Given the description of an element on the screen output the (x, y) to click on. 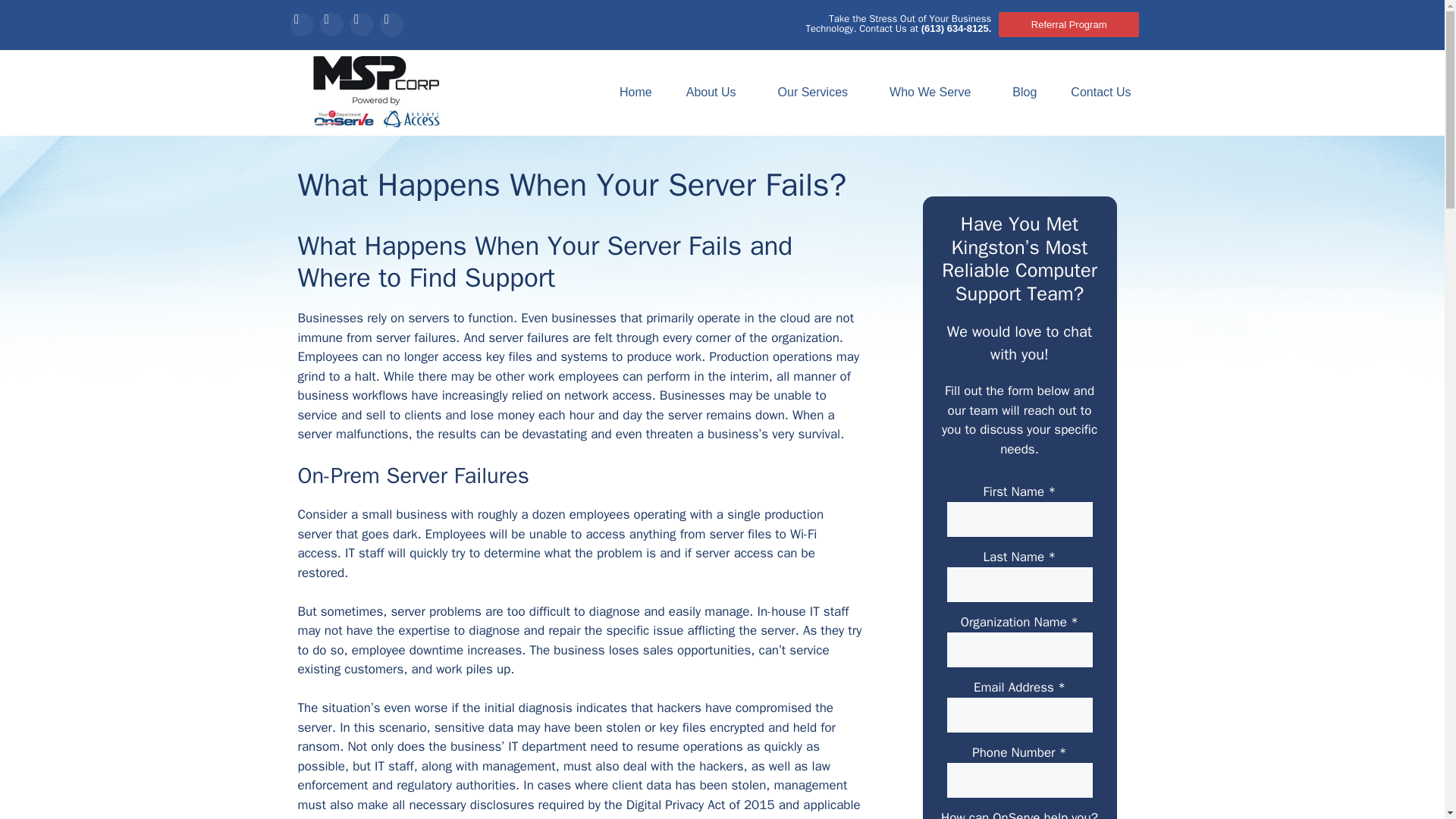
About Us (714, 92)
Contact Us (1104, 92)
Referral Program (1068, 24)
Who We Serve (933, 92)
Blog (1023, 92)
Our Services (815, 92)
Home (636, 92)
